Given the description of an element on the screen output the (x, y) to click on. 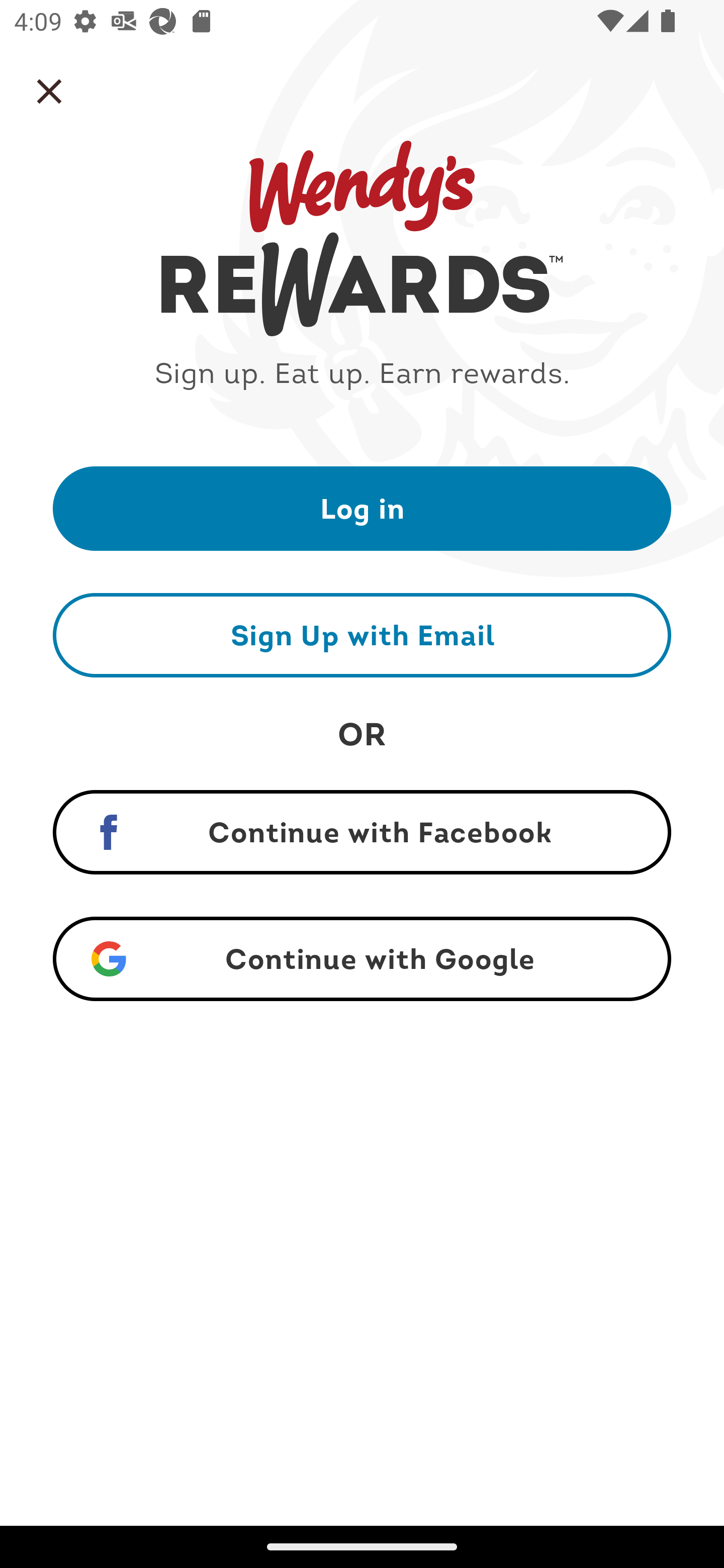
close (49, 91)
Log in (361, 507)
Sign Up with Email (361, 634)
Continue with Facebook (361, 832)
Continue with Google (361, 958)
